Given the description of an element on the screen output the (x, y) to click on. 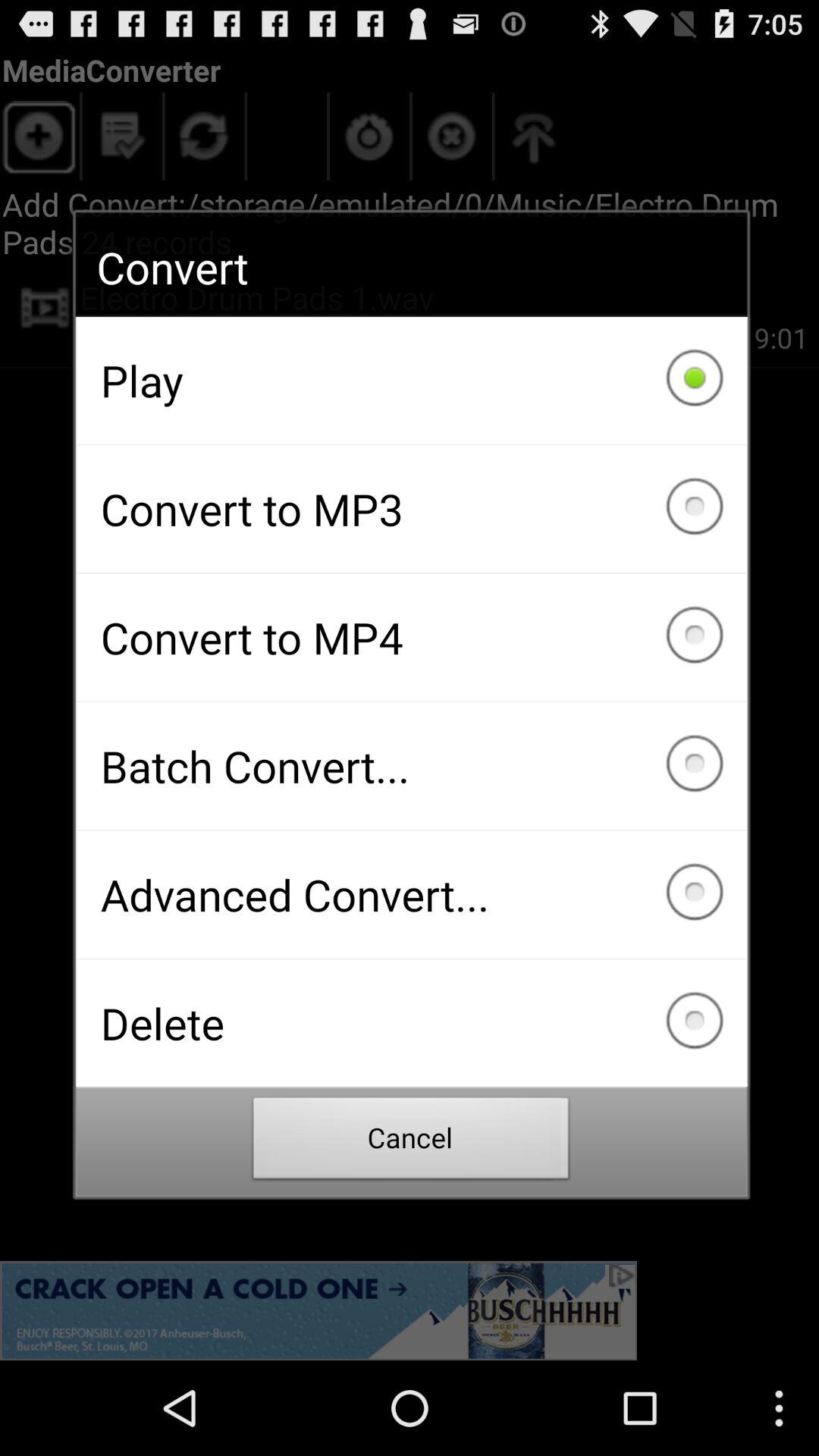
turn off the cancel item (410, 1142)
